Given the description of an element on the screen output the (x, y) to click on. 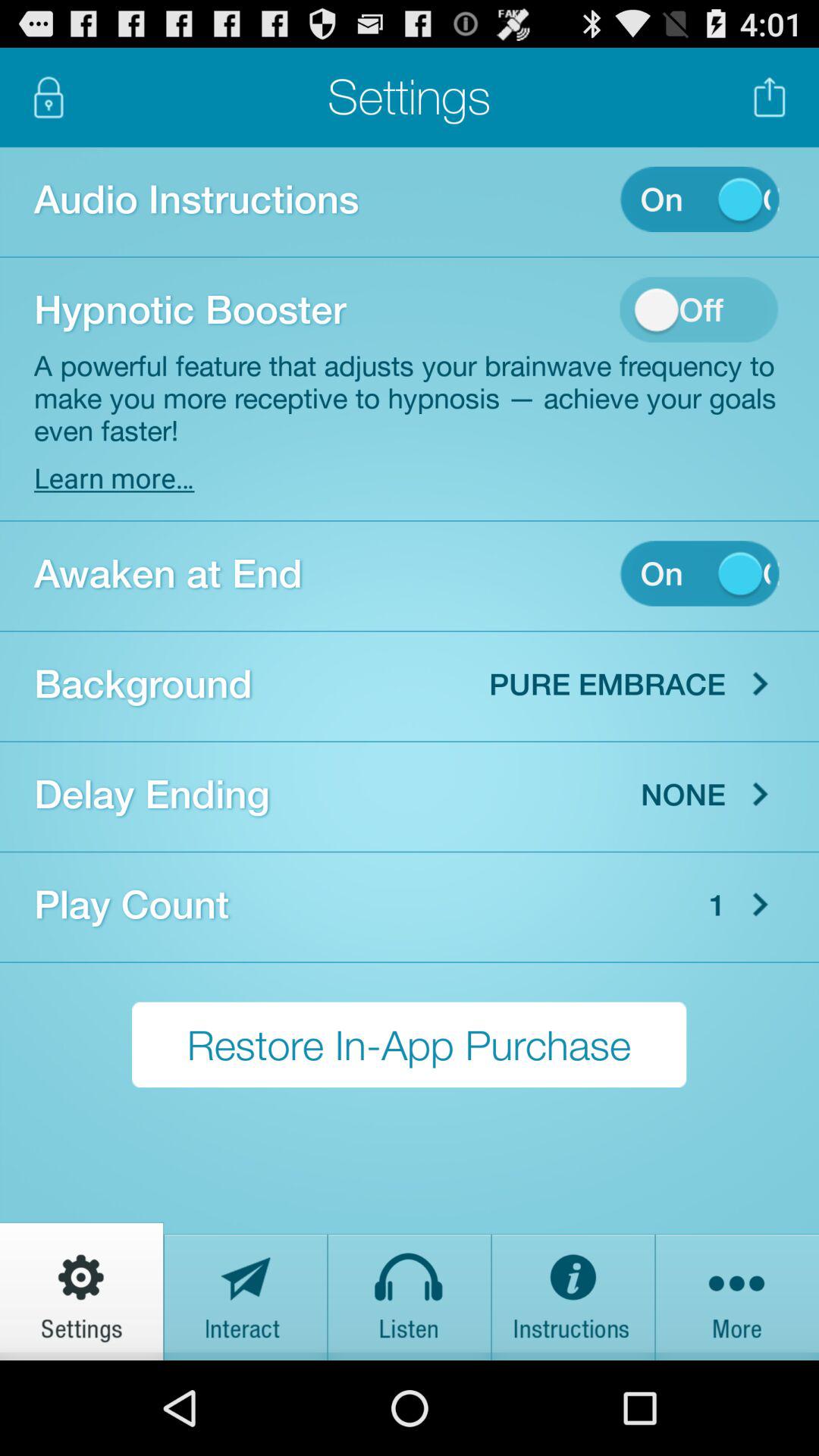
the switch button right to awaken at end (699, 573)
click the button above more on the web page (760, 904)
click the button on the right next to the text none on the web page (760, 794)
